Given the description of an element on the screen output the (x, y) to click on. 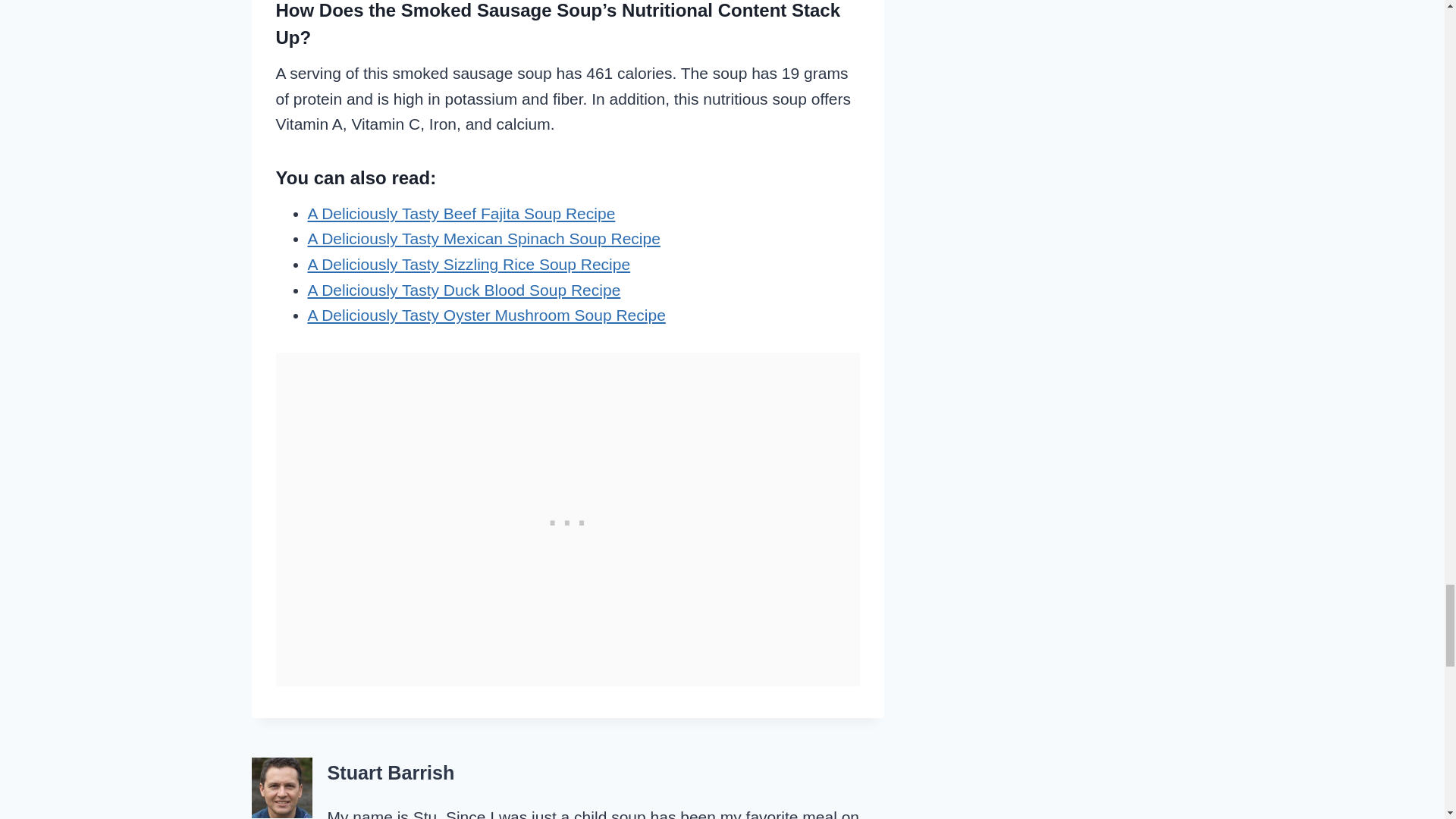
A Deliciously Tasty Sizzling Rice Soup Recipe (468, 263)
Stuart Barrish (390, 772)
A Deliciously Tasty Beef Fajita Soup Recipe (461, 212)
A Deliciously Tasty Oyster Mushroom Soup Recipe (486, 314)
Posts by Stuart Barrish (390, 772)
A Deliciously Tasty Duck Blood Soup Recipe (464, 289)
A Deliciously Tasty Mexican Spinach Soup Recipe (484, 238)
